Given the description of an element on the screen output the (x, y) to click on. 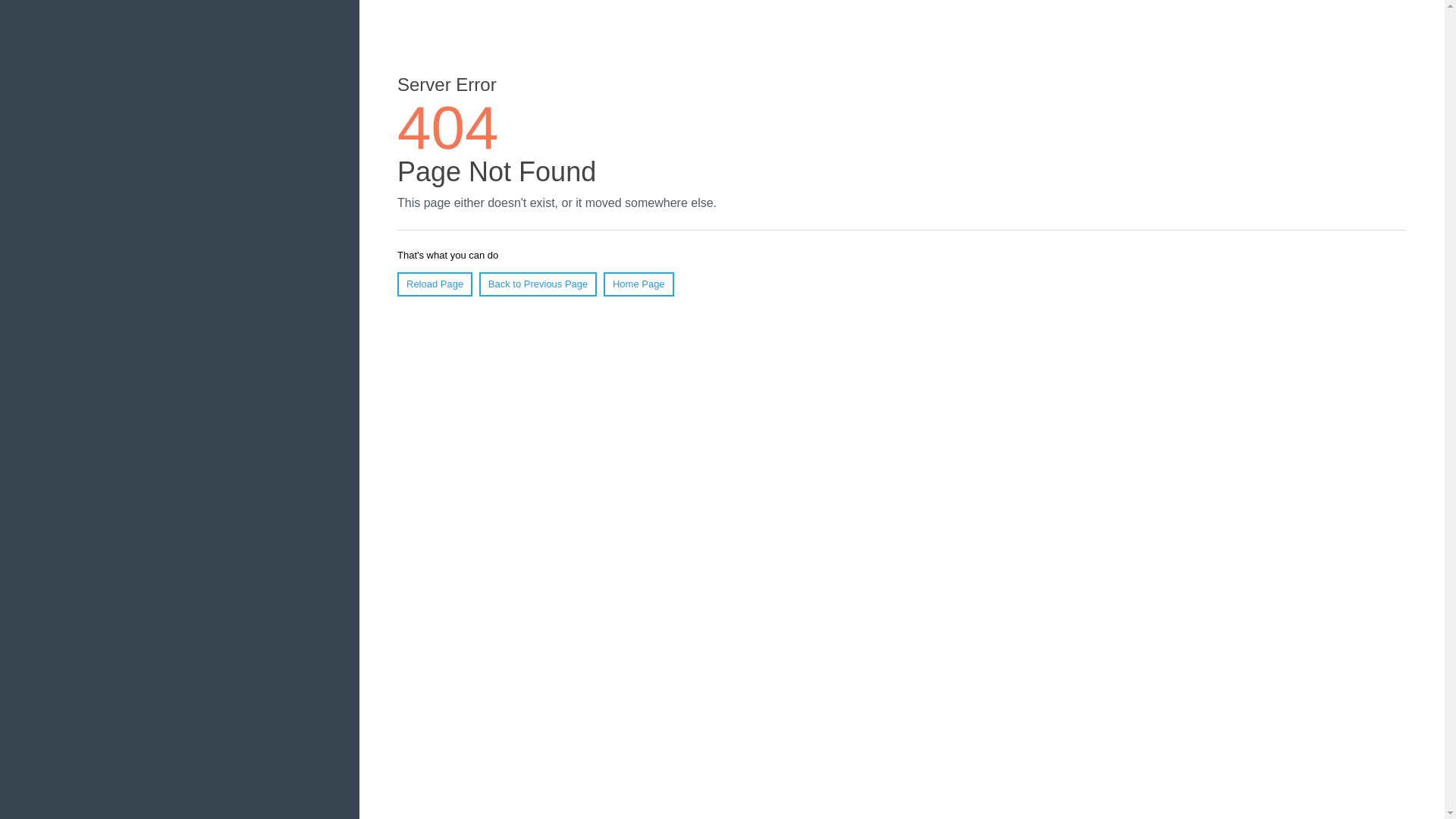
Home Page (639, 283)
Back to Previous Page (537, 283)
Reload Page (434, 283)
